Given the description of an element on the screen output the (x, y) to click on. 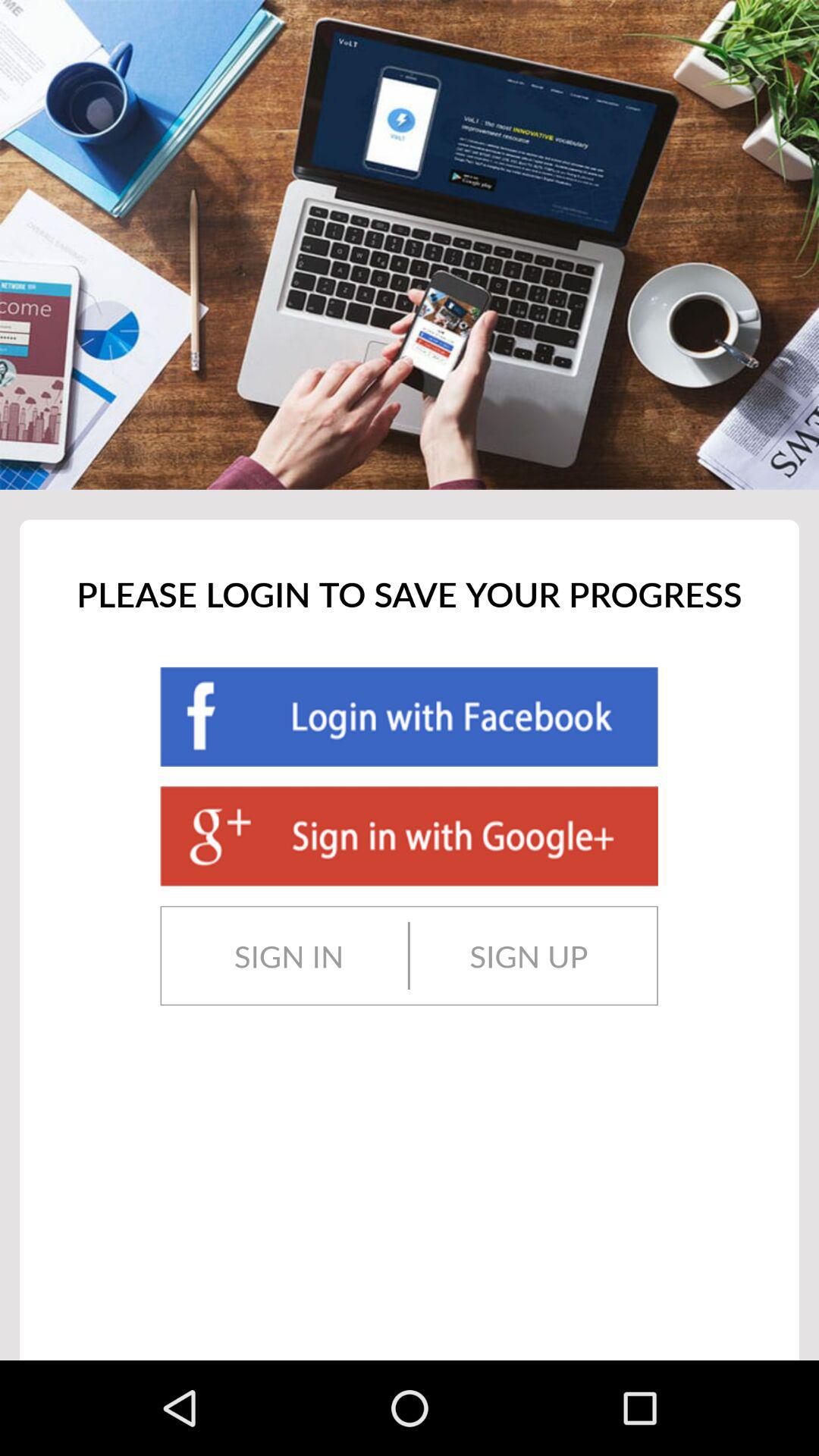
choose sign in (288, 955)
